Given the description of an element on the screen output the (x, y) to click on. 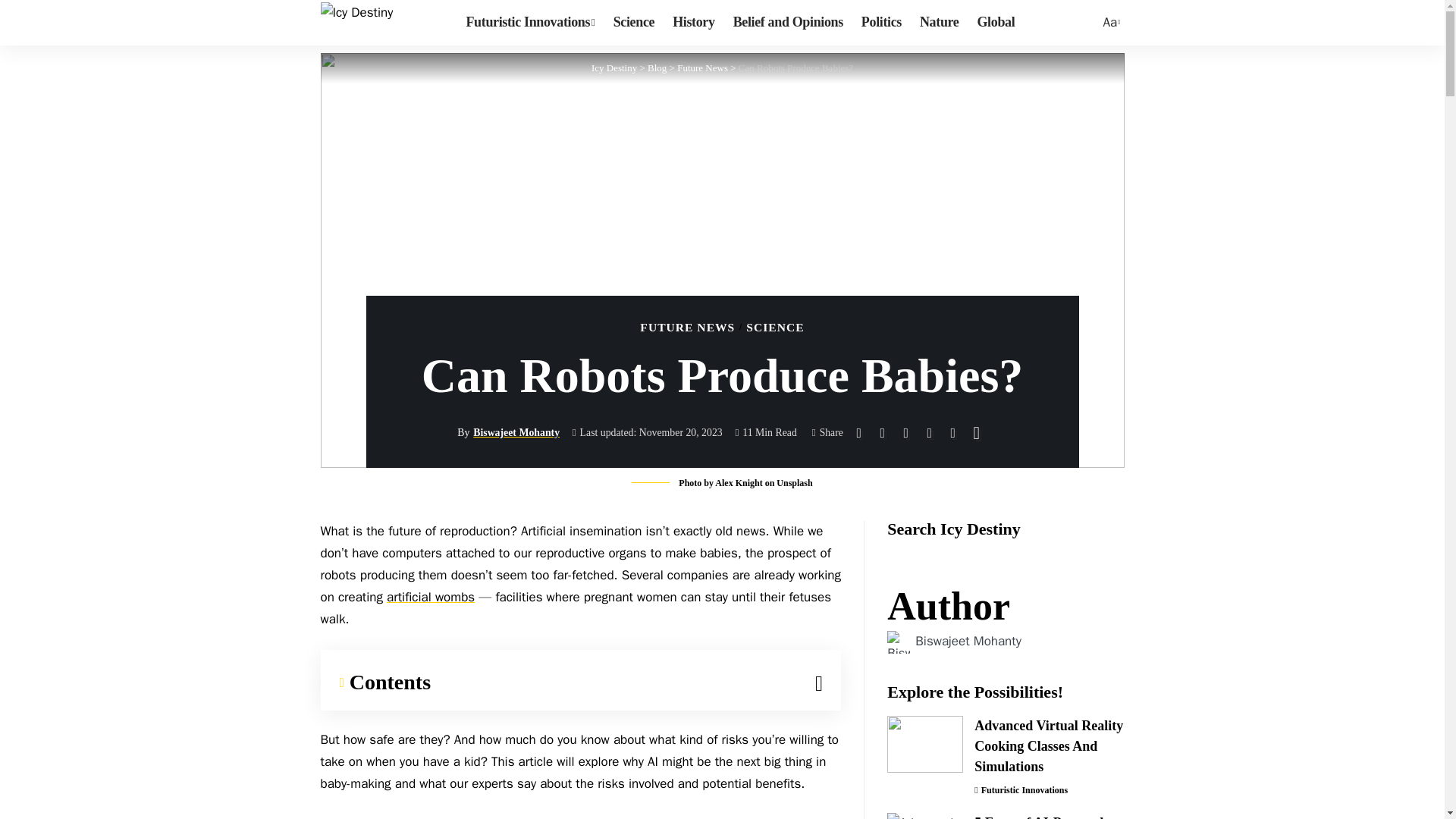
Blog (656, 67)
History (693, 22)
Belief and Opinions (787, 22)
Politics (881, 22)
Science (633, 22)
Biswajeet Mohanty (968, 641)
Advanced Virtual Reality Cooking Classes And Simulations (1110, 23)
Icy Destiny (924, 744)
Nature (614, 67)
Go to Icy Destiny. (939, 22)
Icy Destiny (614, 67)
Go to Blog. (356, 23)
5 Facts of AI-Powered VR Gardening and Landscaping Advisors (656, 67)
Futuristic Innovations (924, 816)
